Given the description of an element on the screen output the (x, y) to click on. 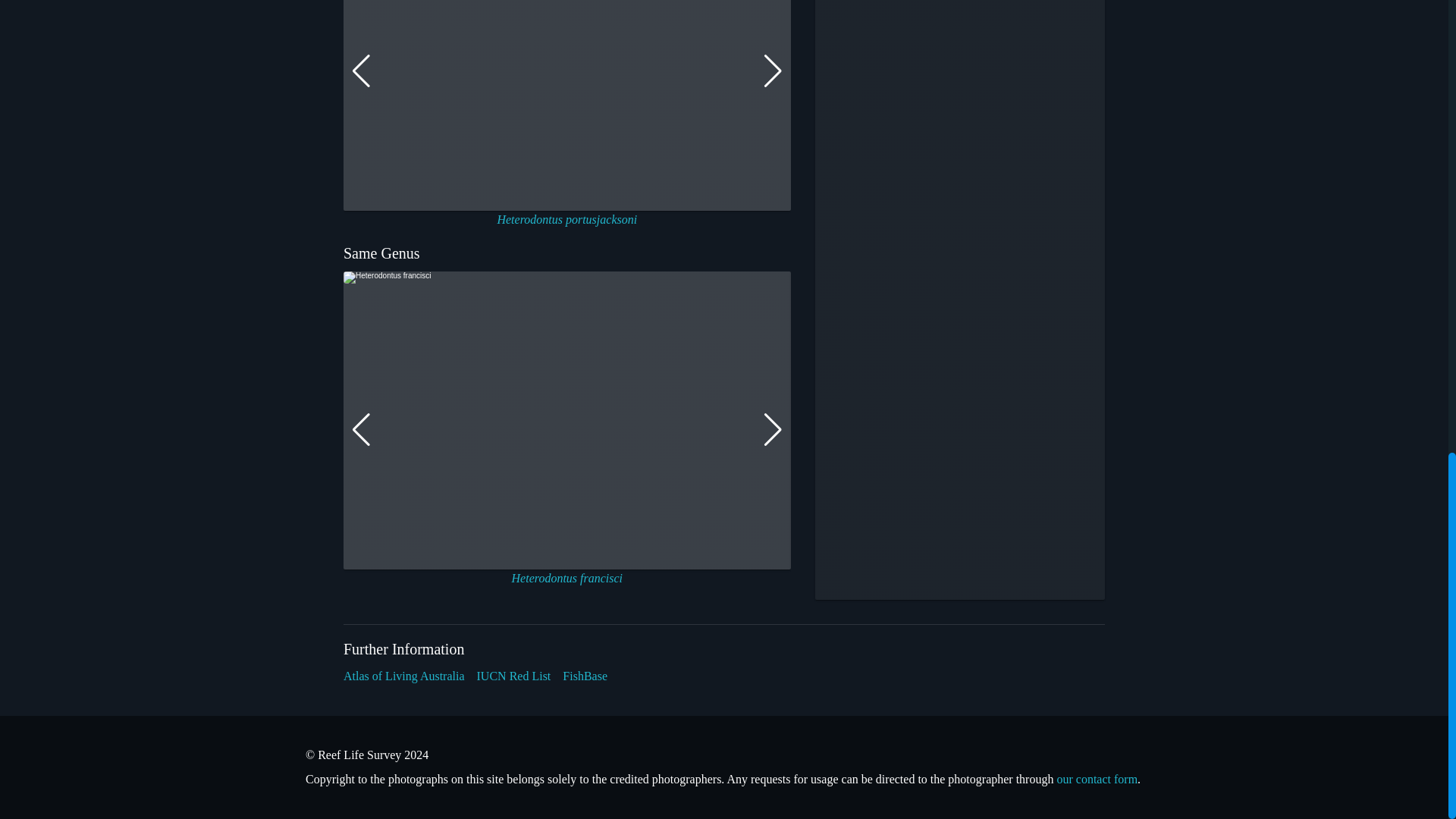
Heterodontus francisci (567, 577)
our contact form (1097, 779)
Heterodontus portusjacksoni (566, 219)
FishBase (584, 675)
IUCN Red List (514, 675)
Atlas of Living Australia (403, 675)
